Given the description of an element on the screen output the (x, y) to click on. 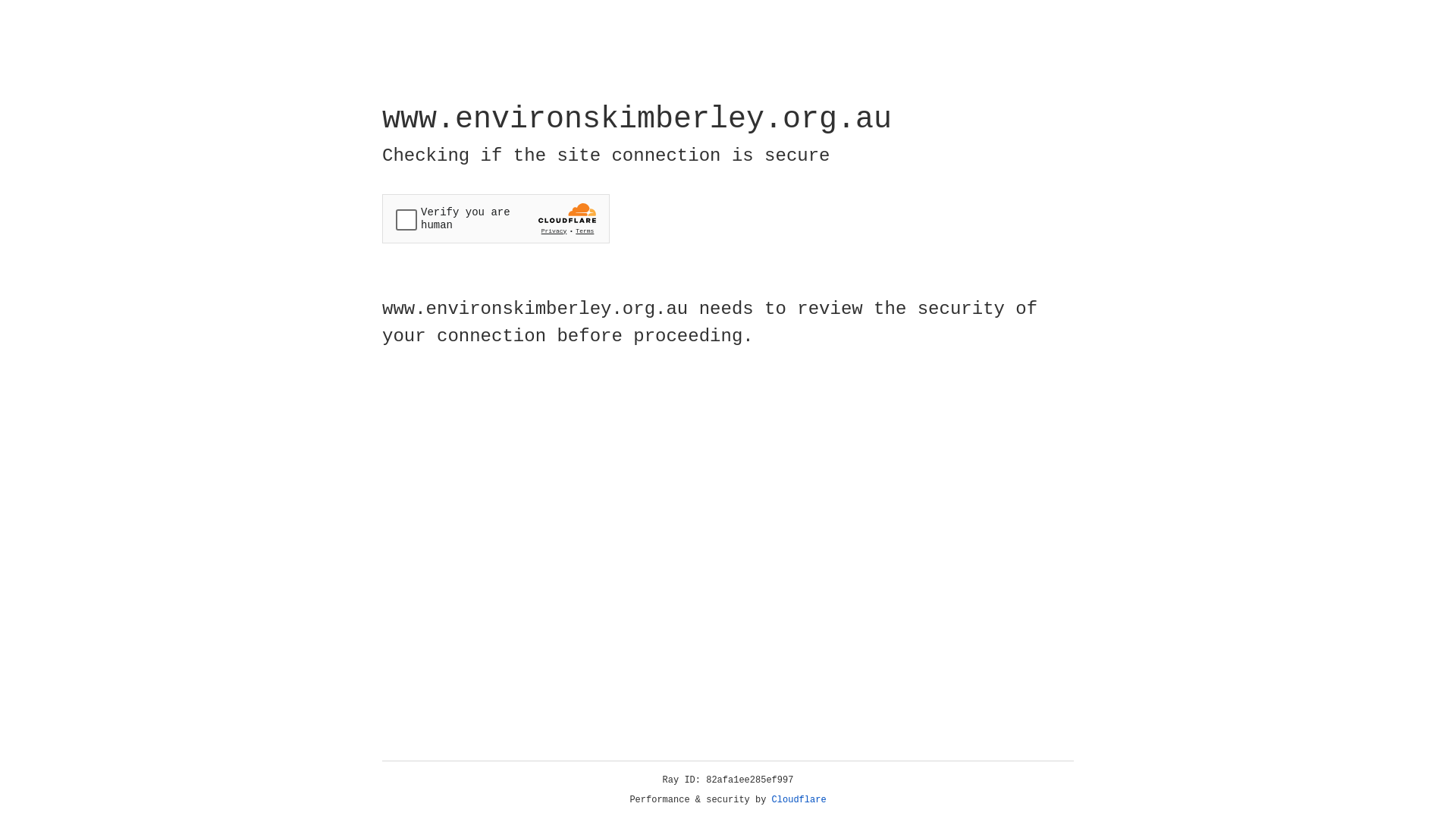
Cloudflare Element type: text (798, 799)
Widget containing a Cloudflare security challenge Element type: hover (495, 218)
